Given the description of an element on the screen output the (x, y) to click on. 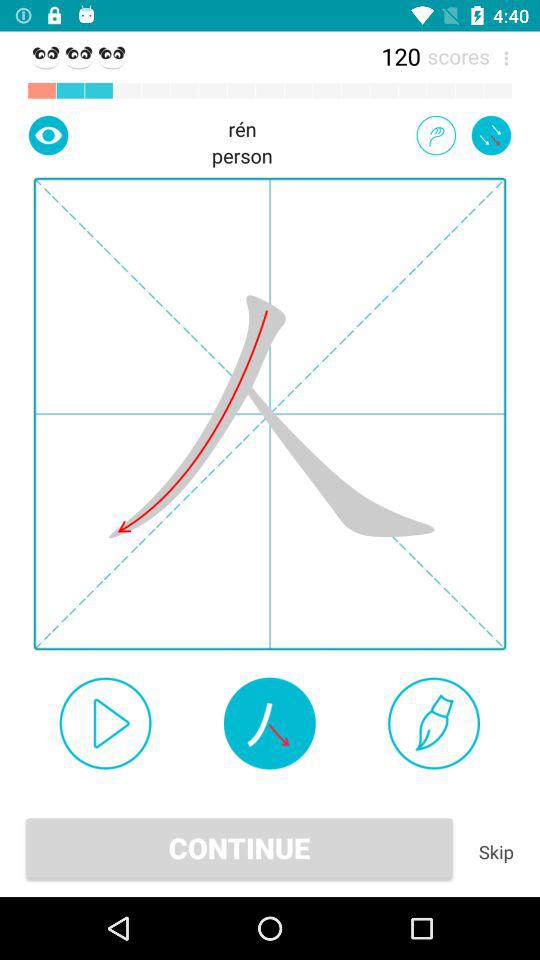
pick paintbrush (434, 723)
